Given the description of an element on the screen output the (x, y) to click on. 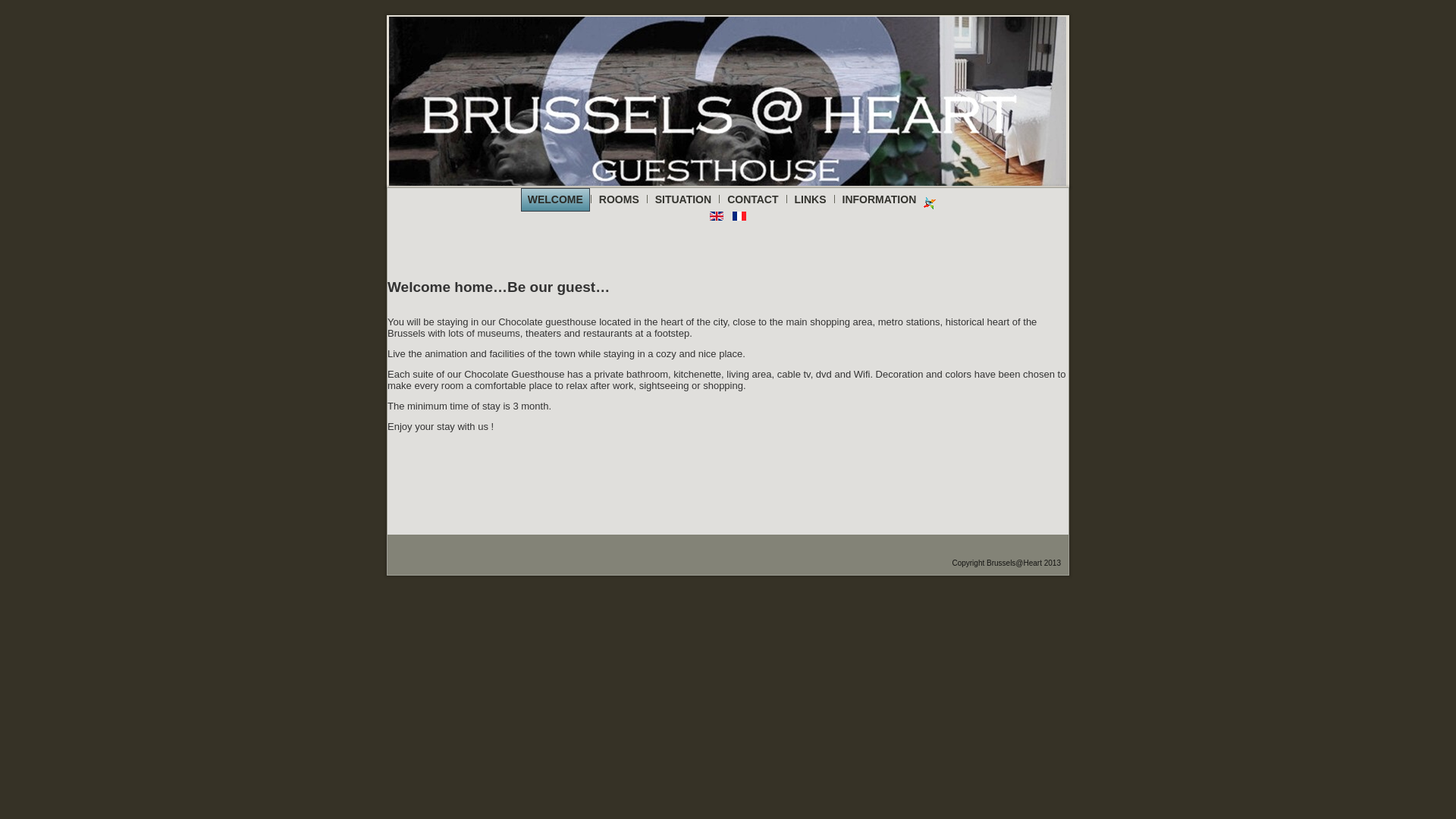
English (UK) Element type: hover (716, 215)
LINKS Element type: text (810, 199)
WELCOME Element type: text (554, 199)
SITUATION Element type: text (683, 199)
CONTACT Element type: text (752, 199)
INFORMATION Element type: text (879, 199)
ROOMS Element type: text (619, 199)
Real time web analytics, Heat map tracking Element type: hover (929, 203)
